Given the description of an element on the screen output the (x, y) to click on. 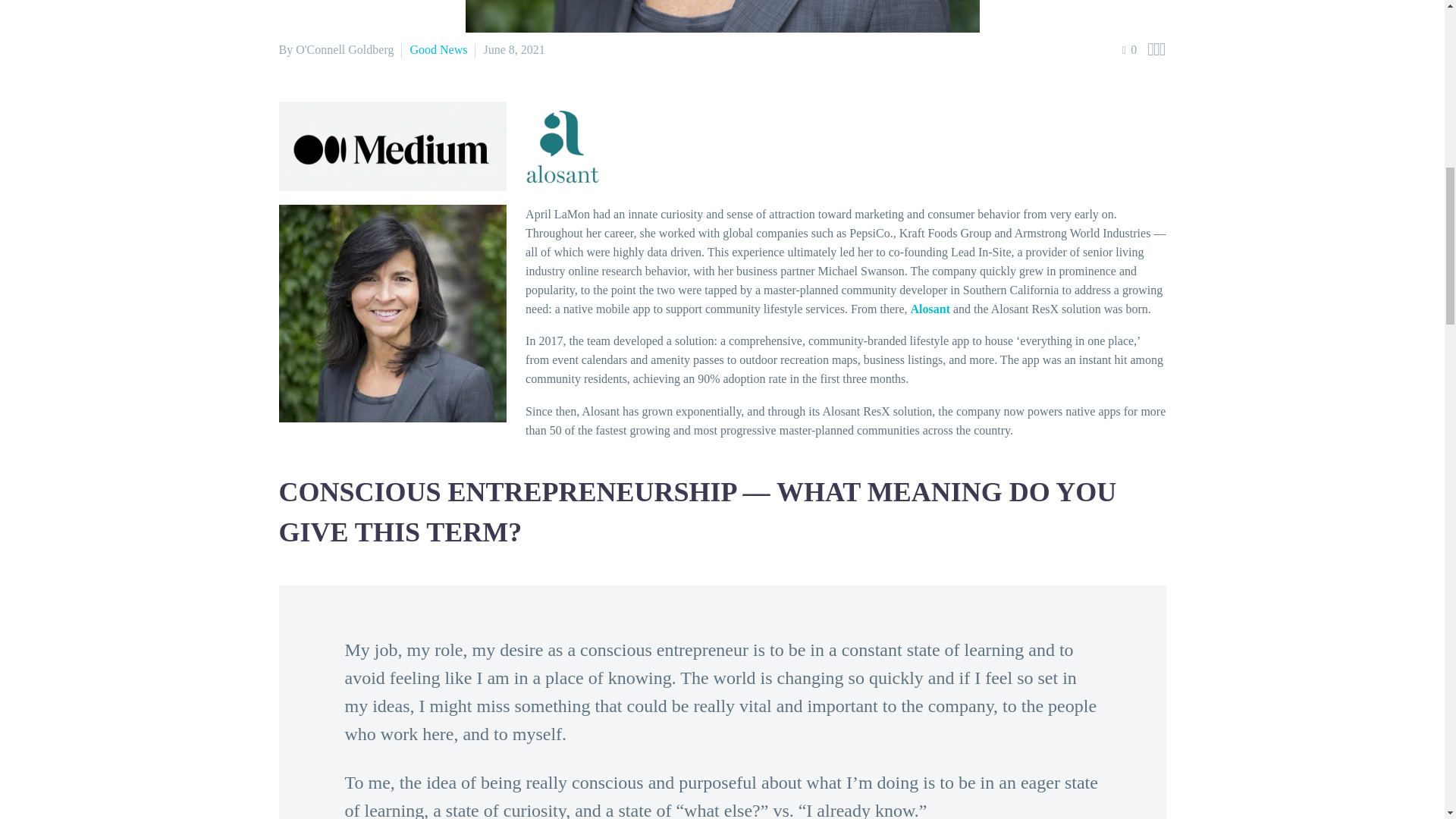
Good News (438, 49)
0 (1129, 49)
View all posts in Good News (438, 49)
Alosant (930, 308)
